Given the description of an element on the screen output the (x, y) to click on. 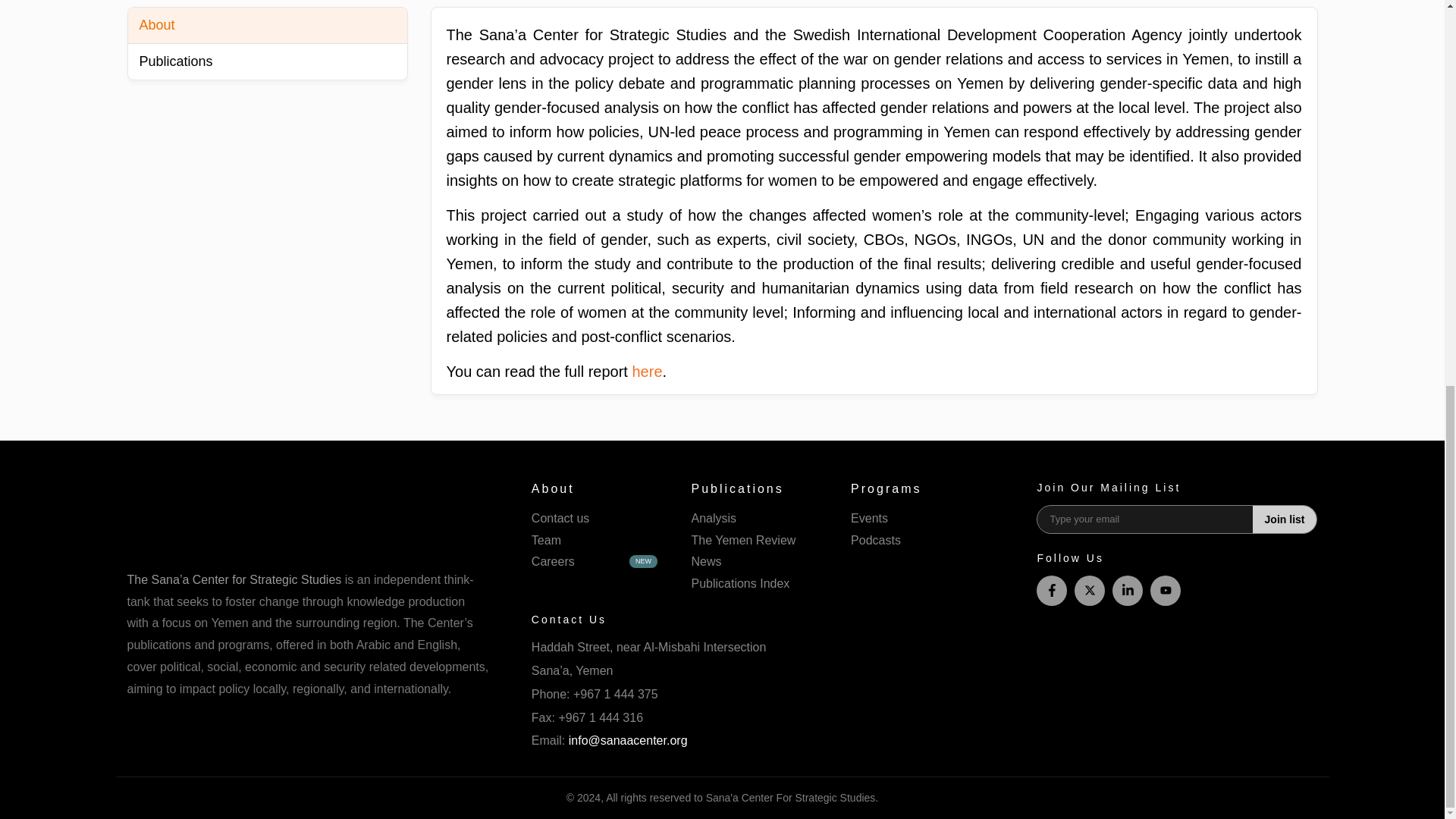
Publications Index (755, 584)
Team (596, 540)
About (596, 489)
The Yemen Review (755, 540)
Analysis (755, 518)
Careers (596, 562)
Programs (914, 489)
News (755, 562)
Publications (267, 61)
Publications (755, 489)
Contact us (596, 518)
About (267, 25)
here (646, 371)
